Given the description of an element on the screen output the (x, y) to click on. 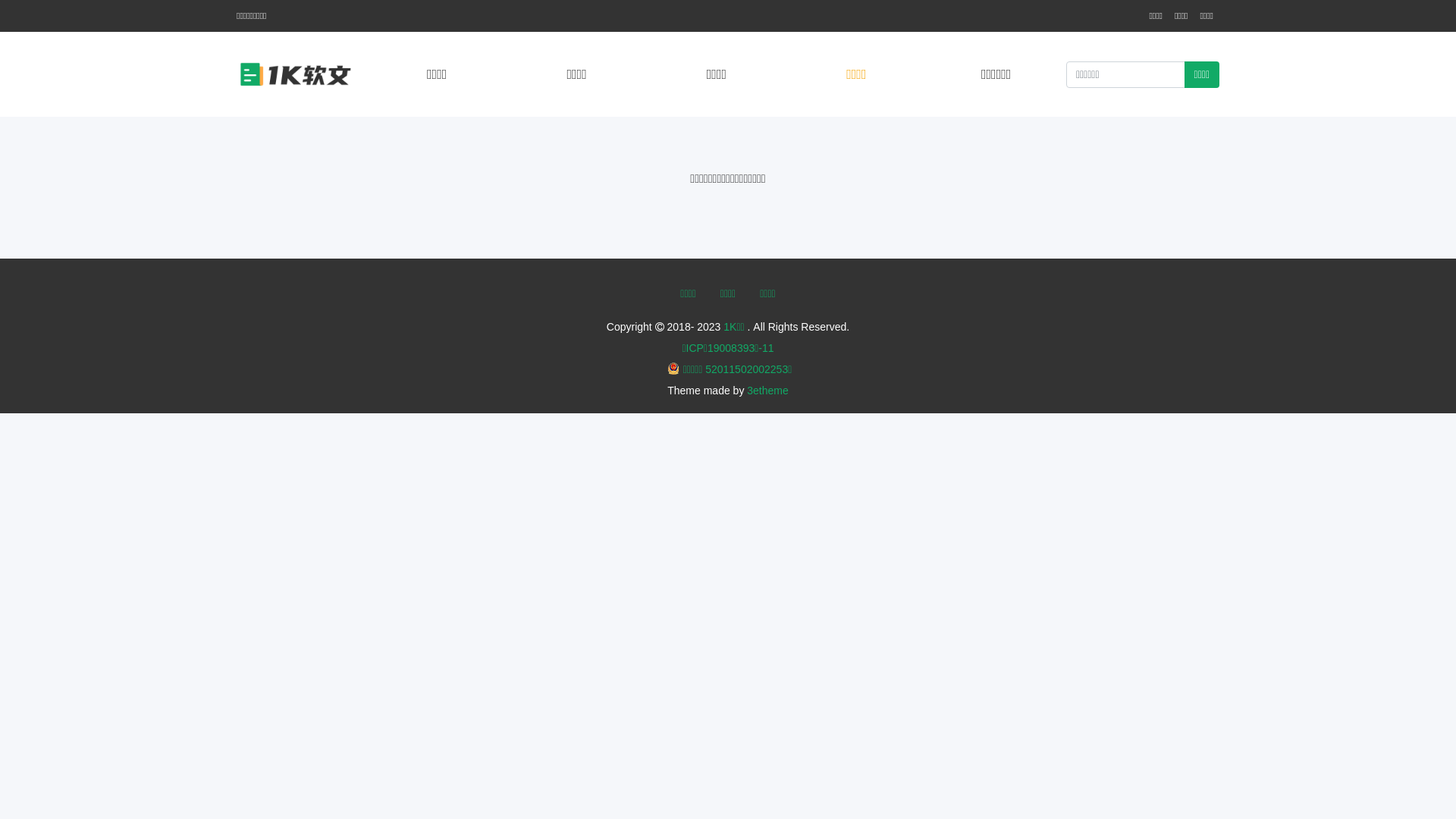
3etheme Element type: text (766, 390)
